Given the description of an element on the screen output the (x, y) to click on. 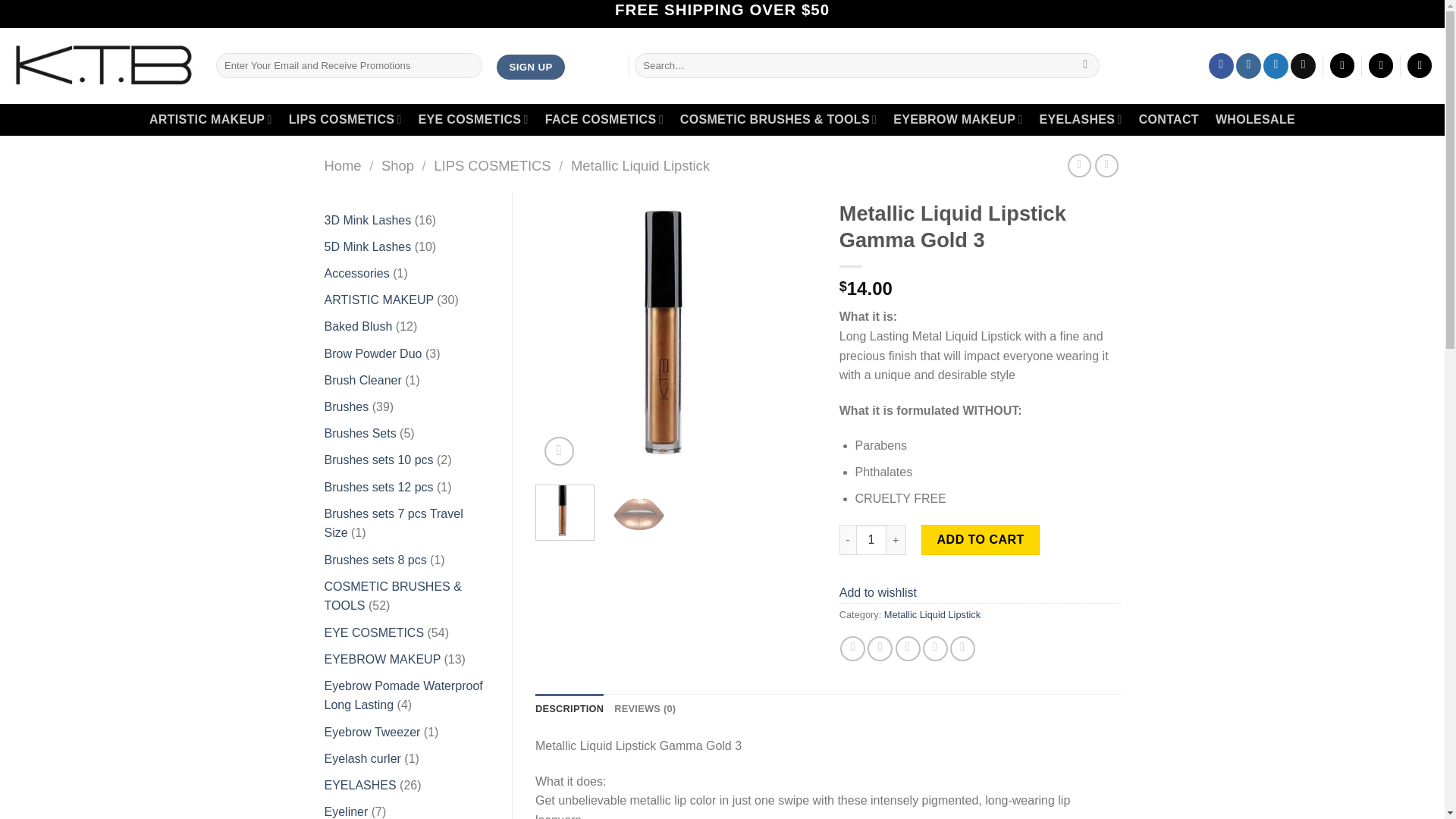
Follow on Facebook (1220, 65)
Cart (1419, 65)
Search (1085, 65)
LIPS COSMETICS (344, 119)
FACE COSMETICS (603, 119)
Follow on Twitter (1275, 65)
EYE COSMETICS (473, 119)
Send us an email (1303, 65)
Sign Up (531, 67)
Sign Up (531, 67)
